Given the description of an element on the screen output the (x, y) to click on. 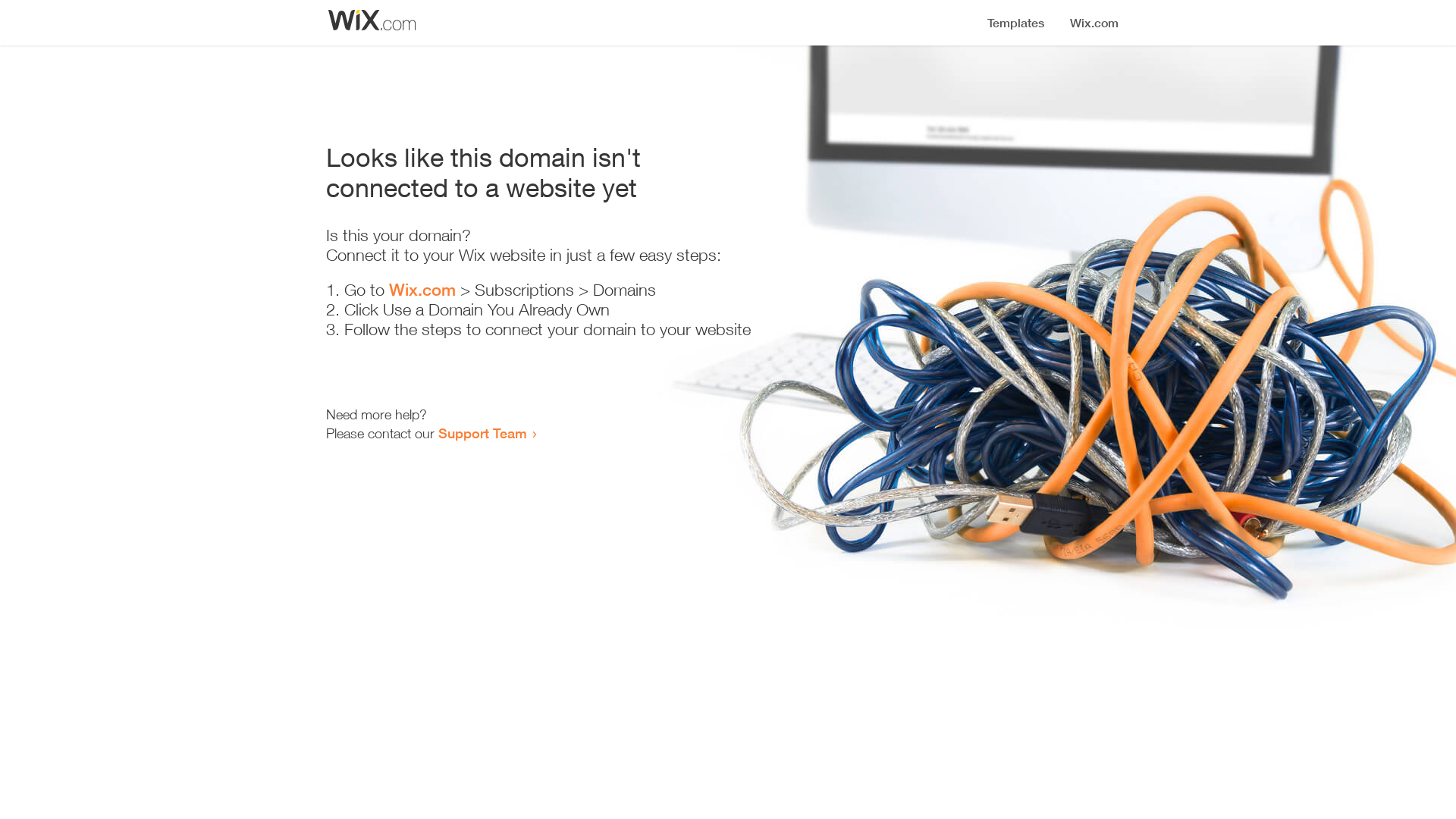
Wix.com Element type: text (422, 289)
Support Team Element type: text (482, 432)
